Given the description of an element on the screen output the (x, y) to click on. 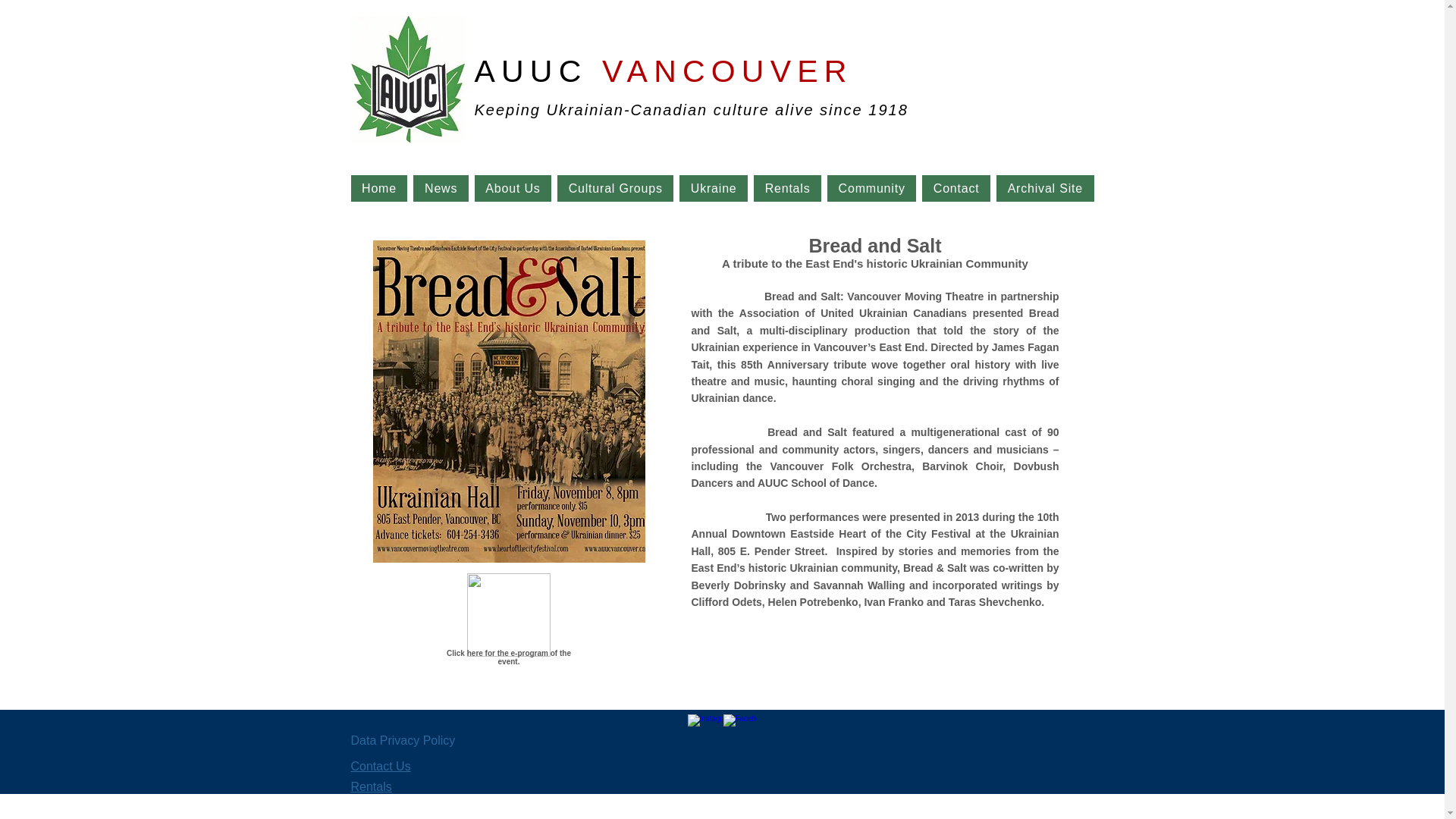
Rentals (787, 188)
Archival Site (1044, 188)
Ukraine (713, 188)
Community (871, 188)
About Us (512, 188)
News (440, 188)
Cultural Groups (614, 188)
Contact (955, 188)
BreadSalt-Poster-H.jpg (508, 401)
Contact Us (380, 766)
Home (378, 188)
Data Privacy Policy (402, 739)
Rentals (370, 786)
